Given the description of an element on the screen output the (x, y) to click on. 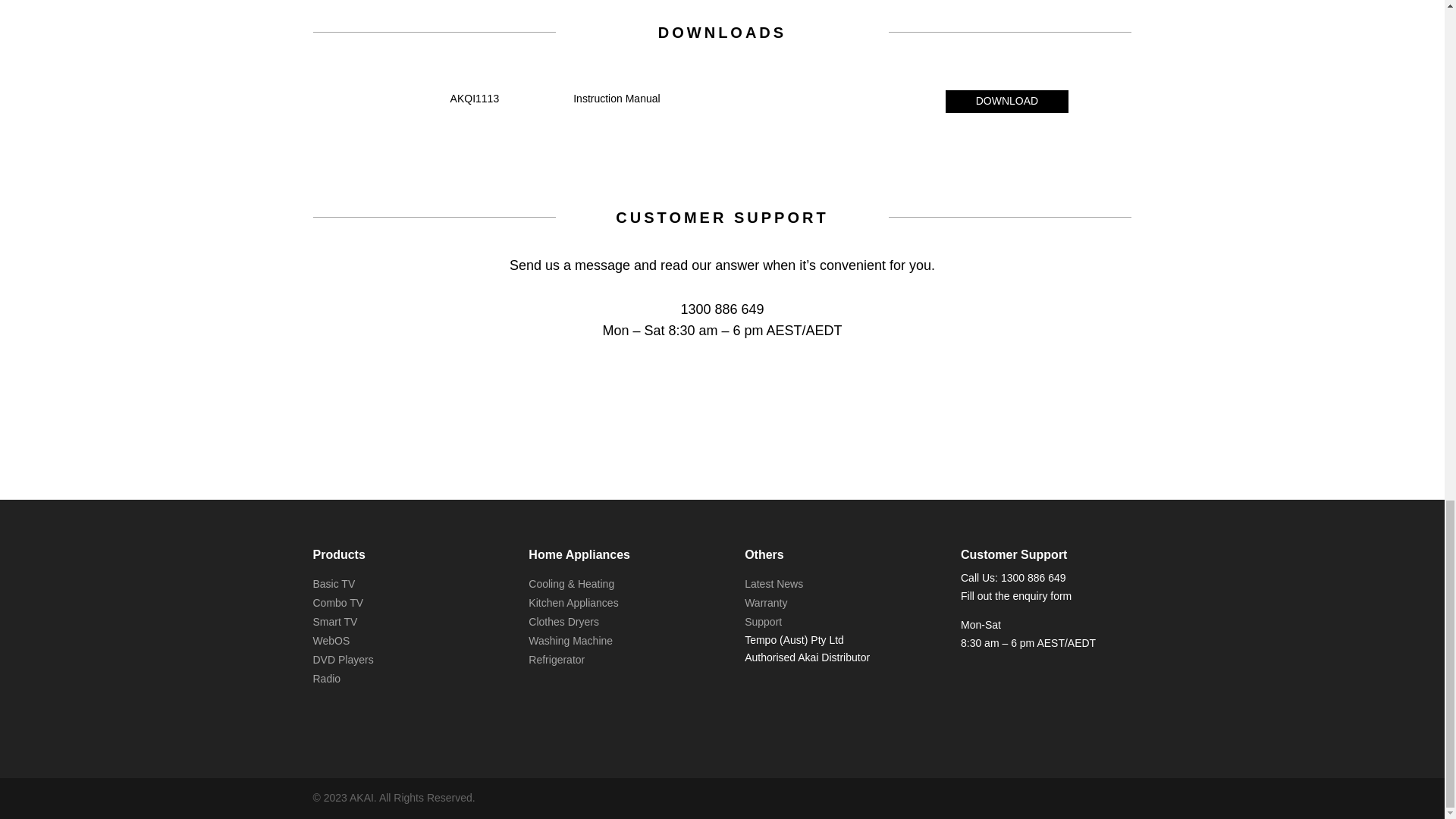
Combo TV (337, 603)
Washing Machine (570, 640)
DVD Players (342, 659)
Clothes Dryers (563, 621)
Basic TV (334, 583)
DOWNLOAD (1006, 101)
Kitchen Appliances (572, 603)
Refrigerator (556, 659)
Latest News (773, 583)
Radio (326, 678)
Smart TV (334, 621)
WebOS (331, 640)
